Given the description of an element on the screen output the (x, y) to click on. 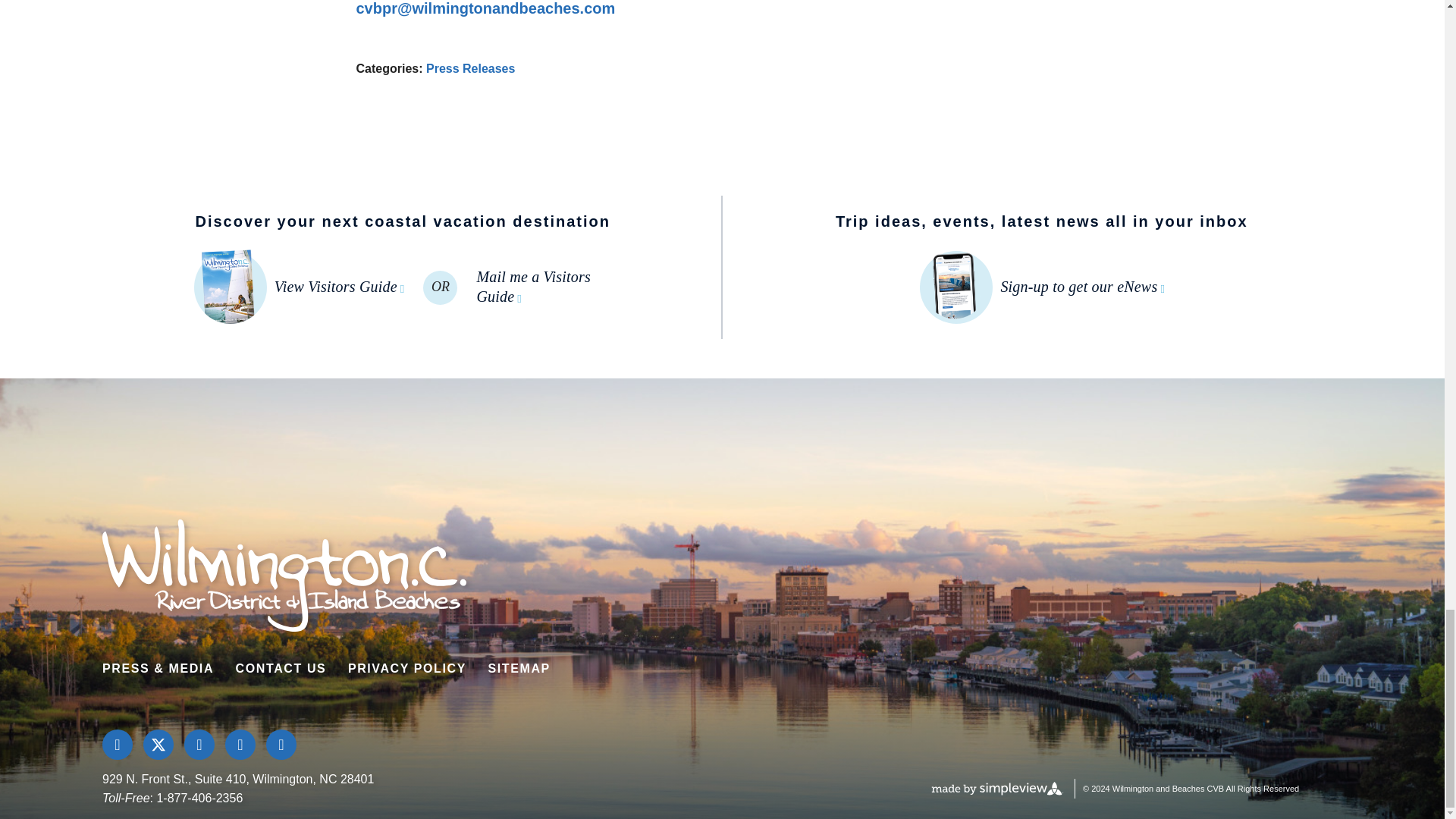
Visit our twitter page (157, 744)
Contact Us (280, 667)
Sitemap (518, 667)
Visit our instagram page (199, 744)
Privacy Policy (406, 667)
Visit our facebook page (116, 744)
Visit our pinterest page (240, 744)
Visit our youtube page (281, 744)
